Given the description of an element on the screen output the (x, y) to click on. 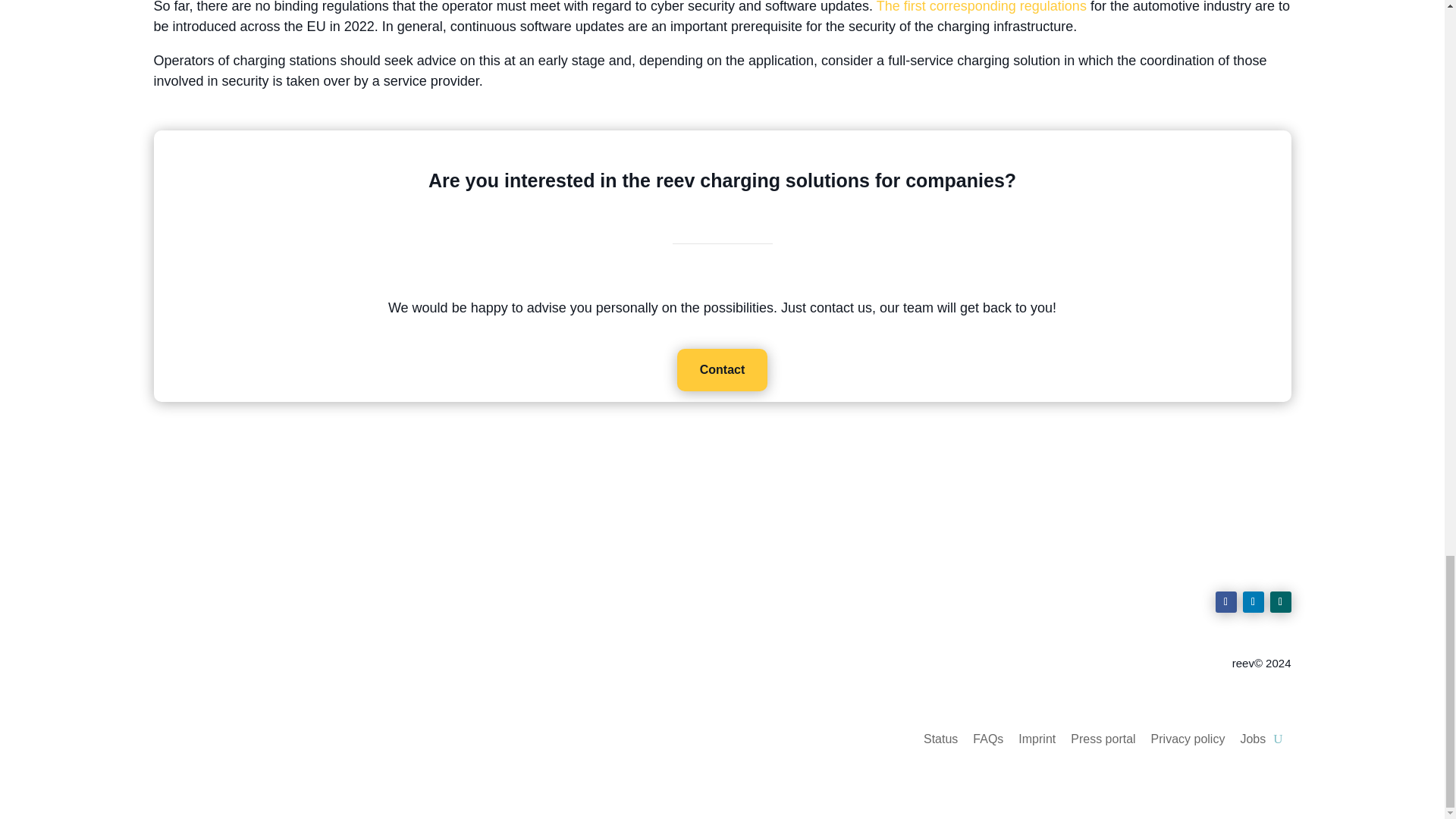
Follow on XING (1279, 601)
Follow on Facebook (1225, 601)
Follow on LinkedIn (1252, 601)
